Given the description of an element on the screen output the (x, y) to click on. 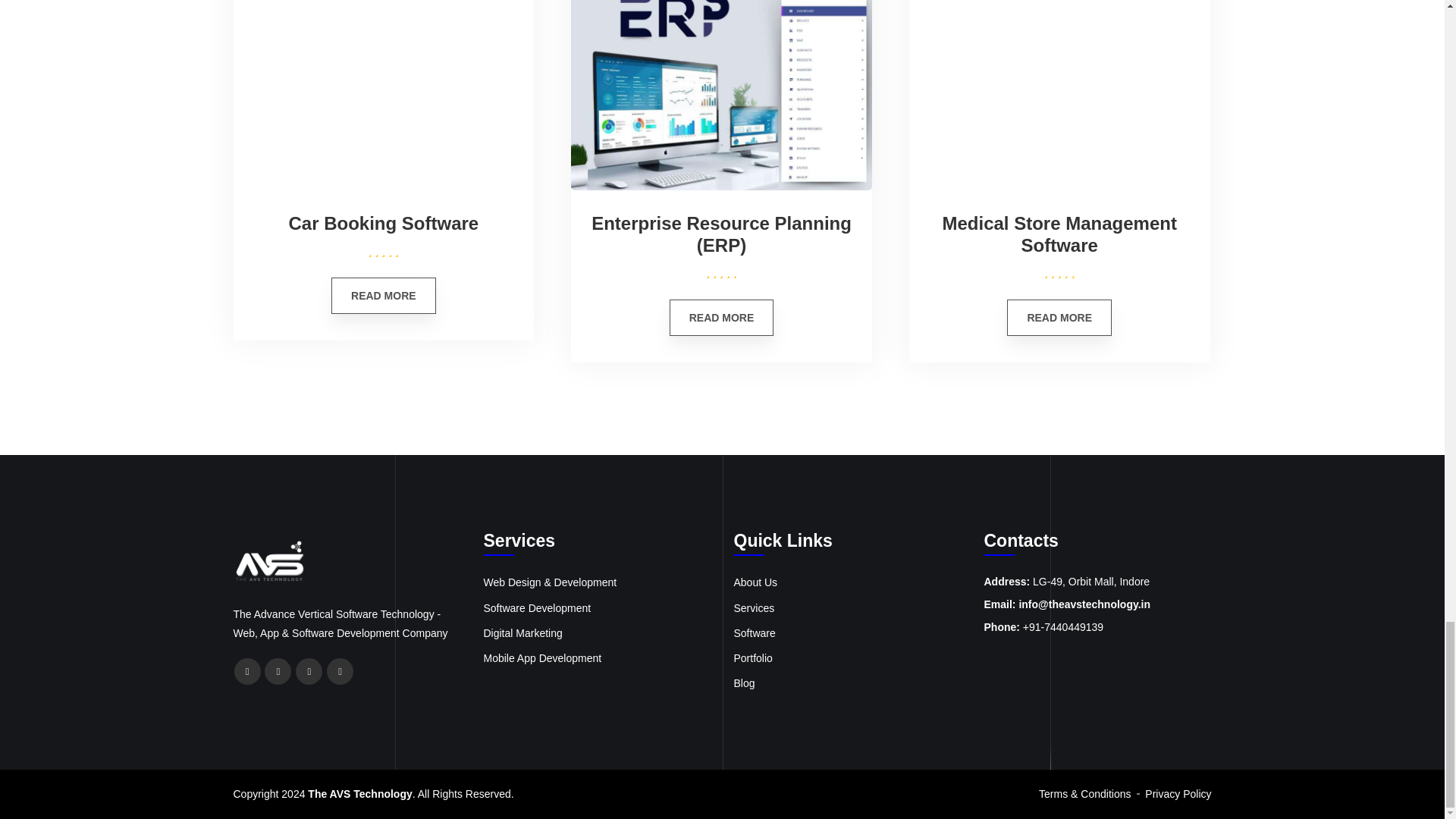
Medical Store Management Software (1059, 234)
READ MORE (721, 317)
READ MORE (1059, 317)
READ MORE (383, 295)
Car Booking Software (383, 223)
